Given the description of an element on the screen output the (x, y) to click on. 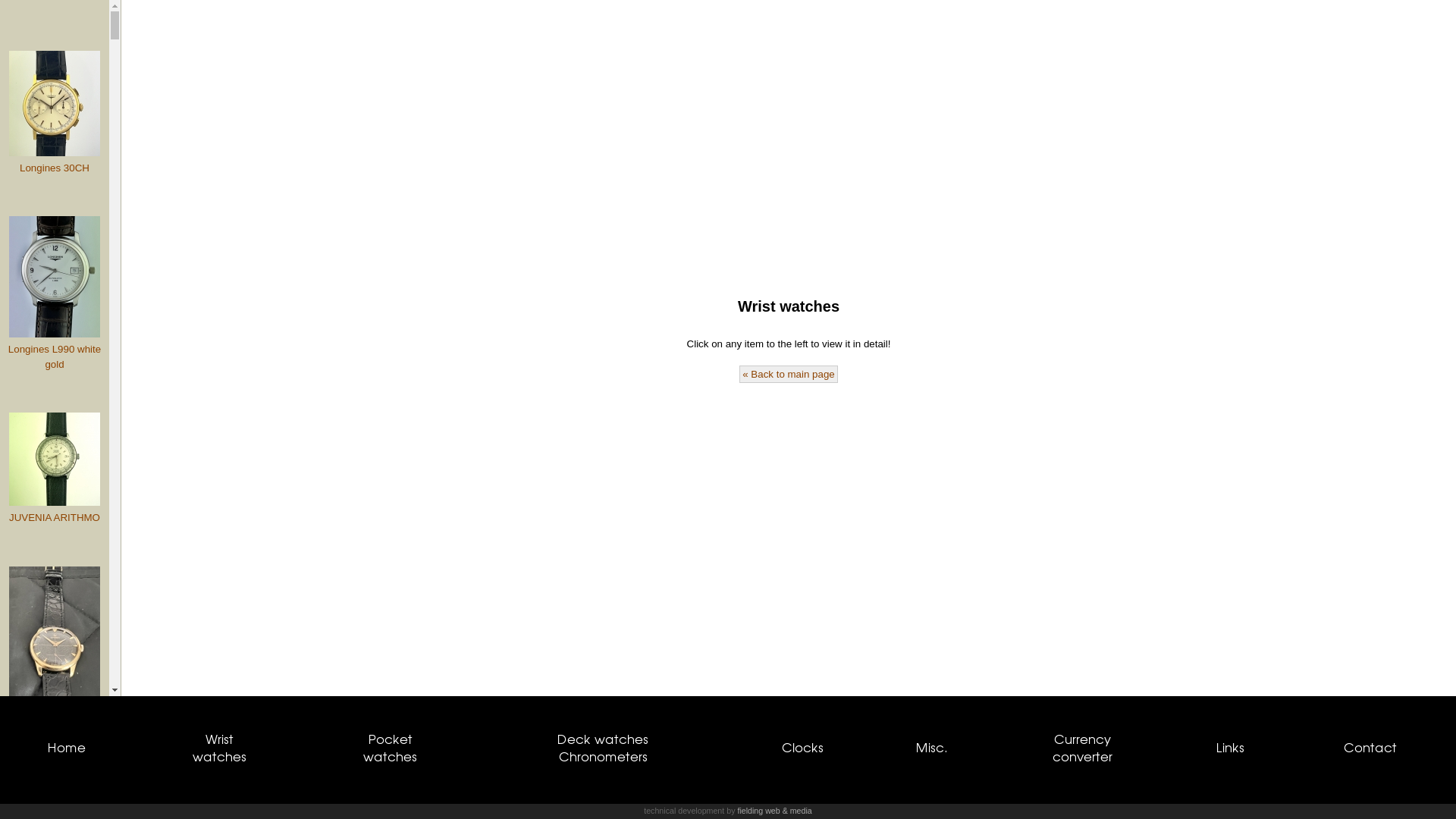
Longines 30CH Element type: text (54, 112)
OMEGA Reference 2748 Element type: text (54, 654)
Longines L990 white gold Element type: text (54, 293)
fielding web & media Element type: text (774, 810)
JUVENIA ARITHMO Element type: text (54, 469)
